Given the description of an element on the screen output the (x, y) to click on. 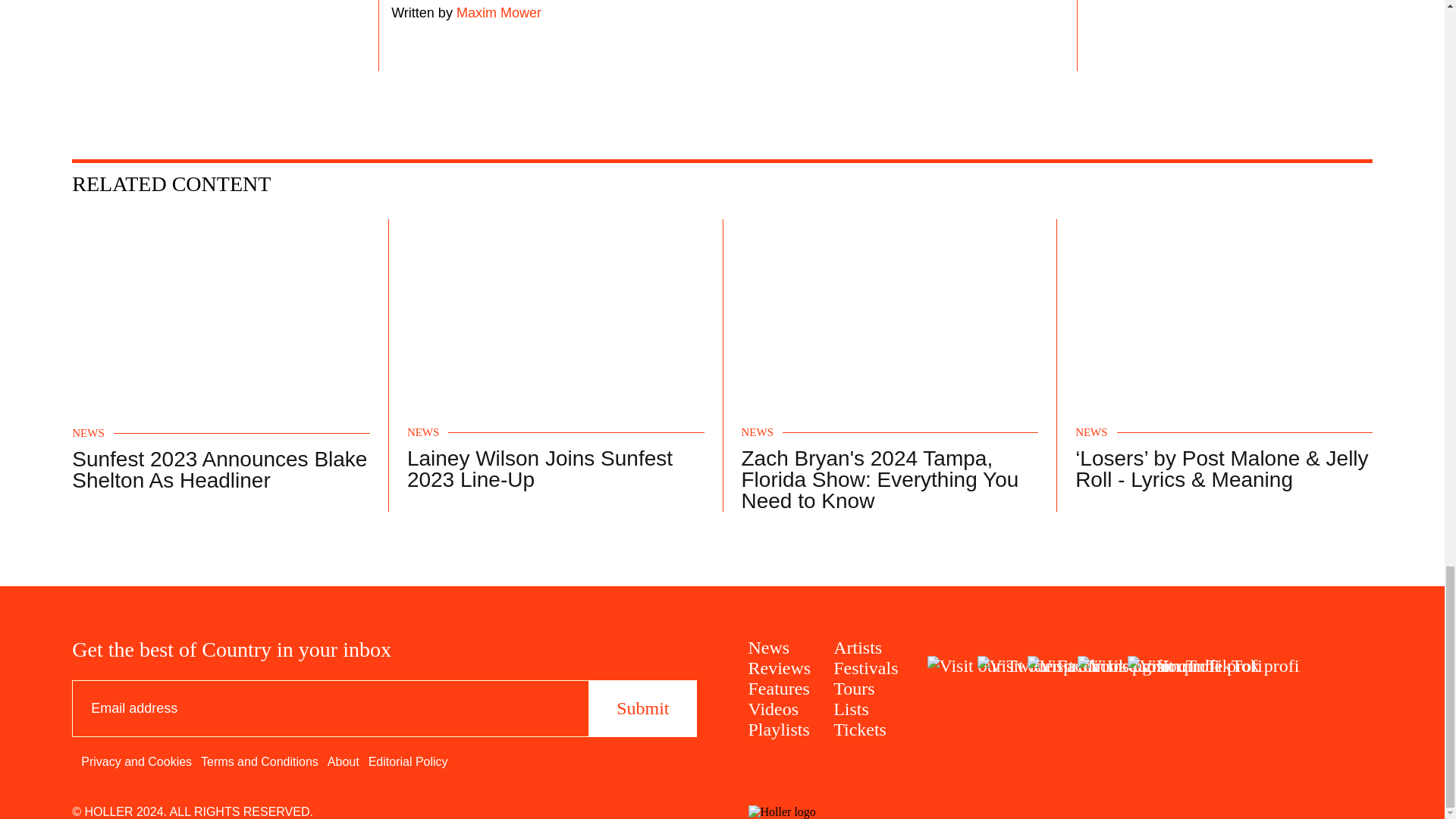
Lainey Wilson Joins Sunfest 2023 Line-Up (539, 468)
Sunfest 2023 Announces Blake Shelton As Headliner (218, 469)
NEWS (757, 431)
Maxim Mower (496, 12)
NEWS (87, 432)
NEWS (423, 431)
NEWS (1091, 431)
Privacy and Cookies (136, 762)
